Given the description of an element on the screen output the (x, y) to click on. 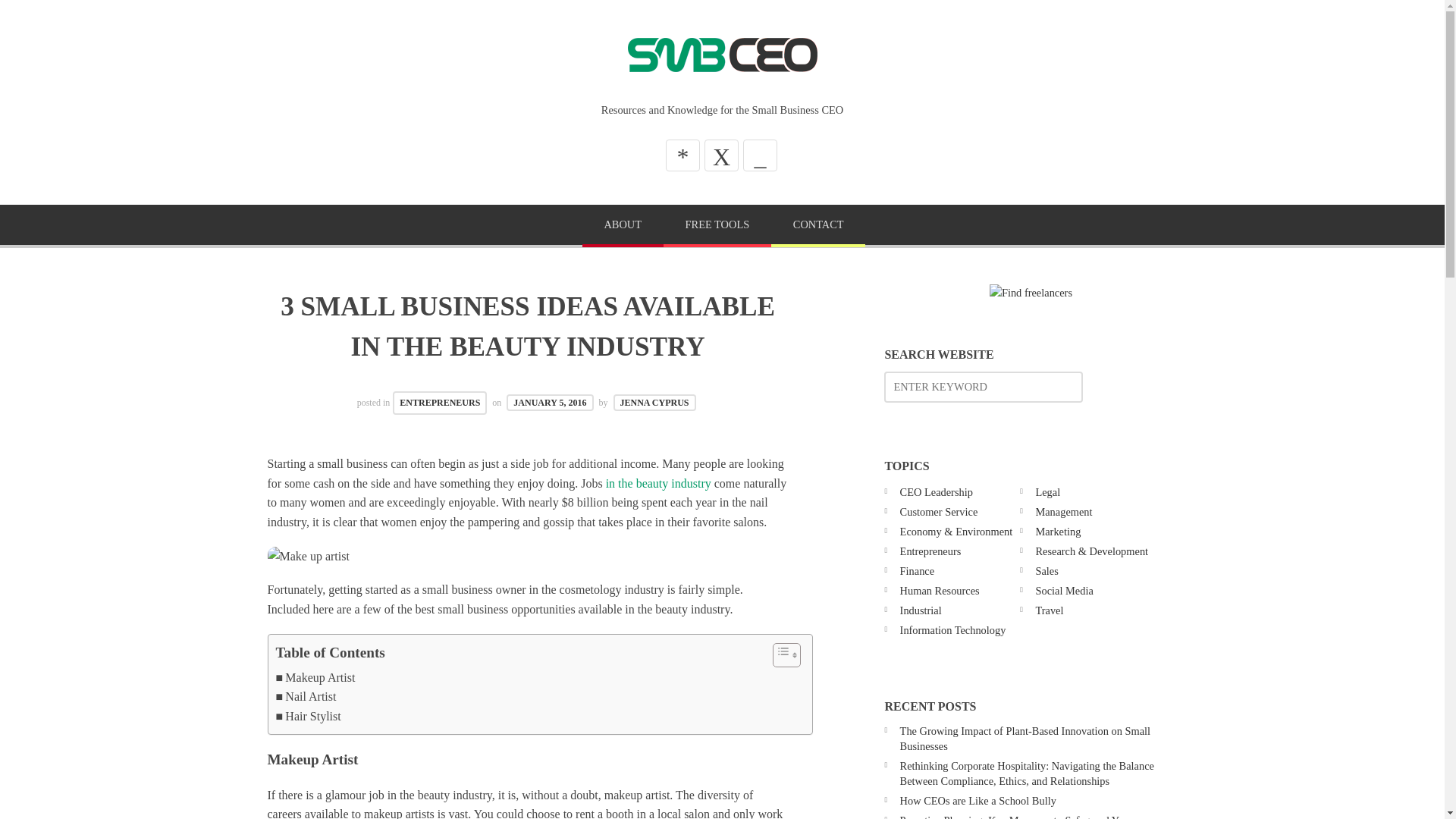
View all posts by Jenna Cyprus (653, 402)
Entrepreneurs (929, 551)
ABOUT (622, 225)
Hair Stylist (308, 716)
CONTACT (817, 225)
JENNA CYPRUS (653, 402)
X (721, 155)
Makeup Artist (315, 677)
ENTREPRENEURS (439, 402)
Hair Stylist (308, 716)
